Given the description of an element on the screen output the (x, y) to click on. 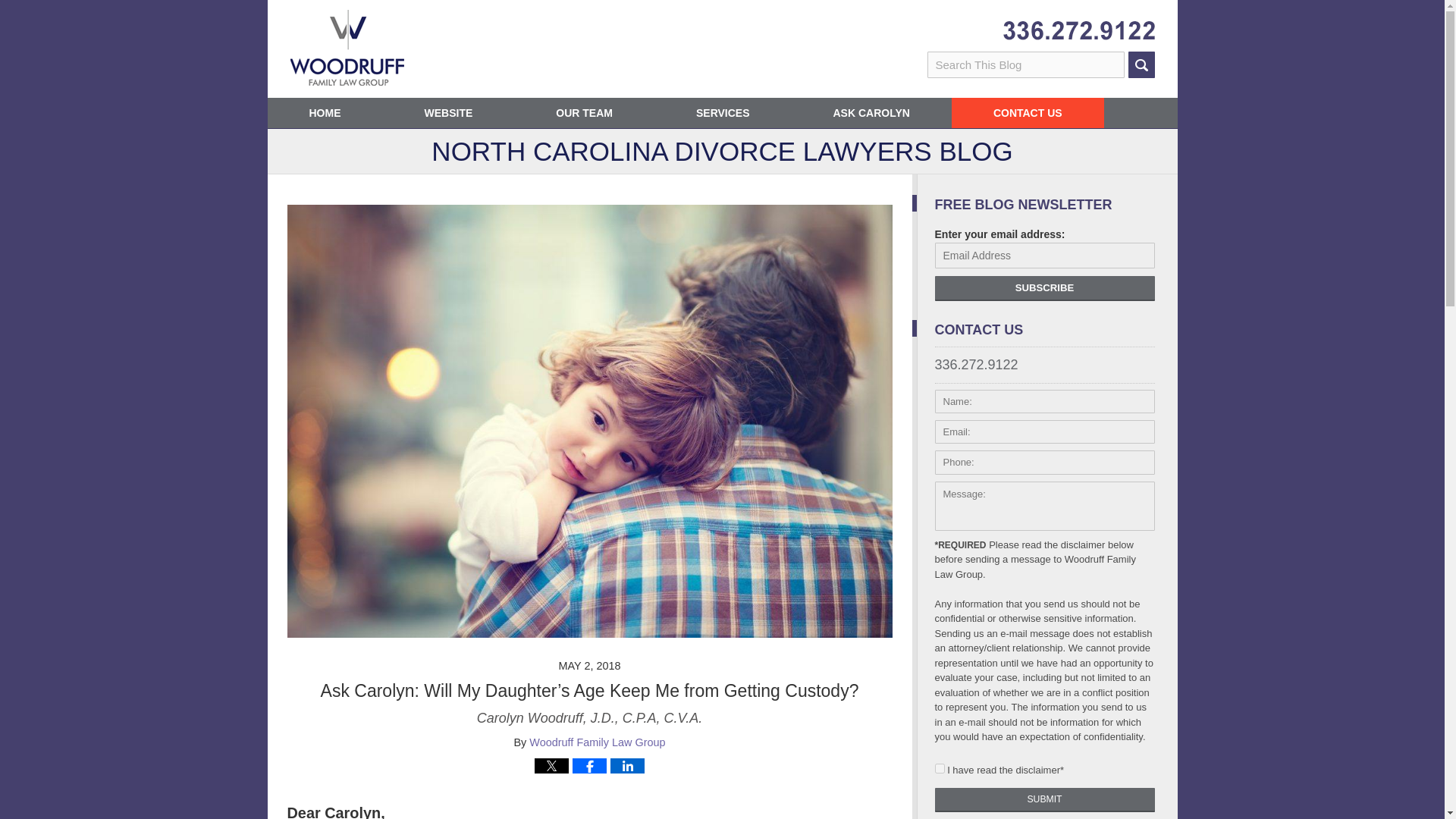
Please enter a valid phone number. (1044, 462)
Woodruff Family Law Group (597, 742)
Published By Woodruff Family Law Group (1078, 30)
North Carolina Divorce Lawyers Blog (346, 47)
OUR TEAM (583, 112)
WEBSITE (447, 112)
NORTH CAROLINA DIVORCE LAWYERS BLOG (720, 156)
CONTACT US (1027, 112)
SUBSCRIBE (1044, 288)
ASK CAROLYN (872, 112)
I have read the disclaimer (938, 768)
SEARCH (1141, 64)
SERVICES (722, 112)
HOME (323, 112)
